Given the description of an element on the screen output the (x, y) to click on. 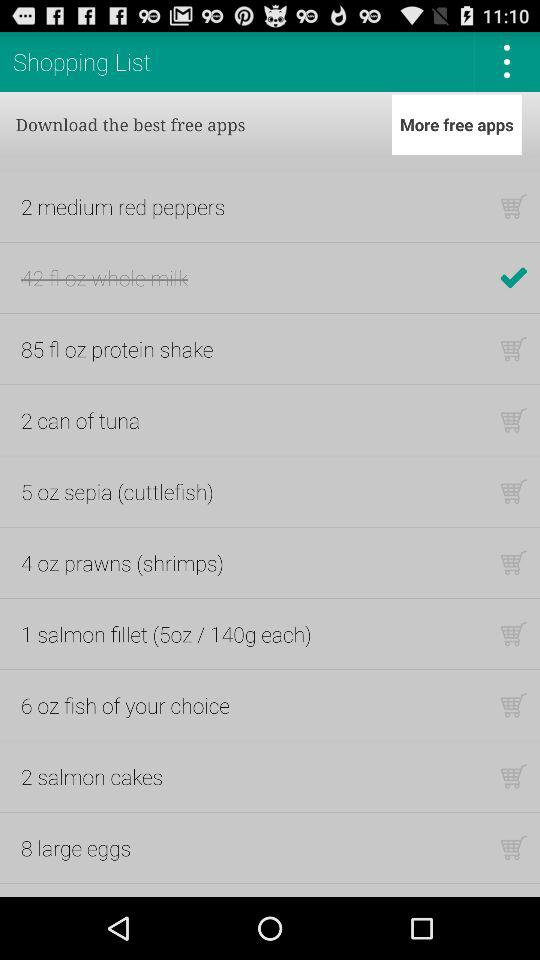
press item above the 2 salmon cakes item (125, 705)
